Given the description of an element on the screen output the (x, y) to click on. 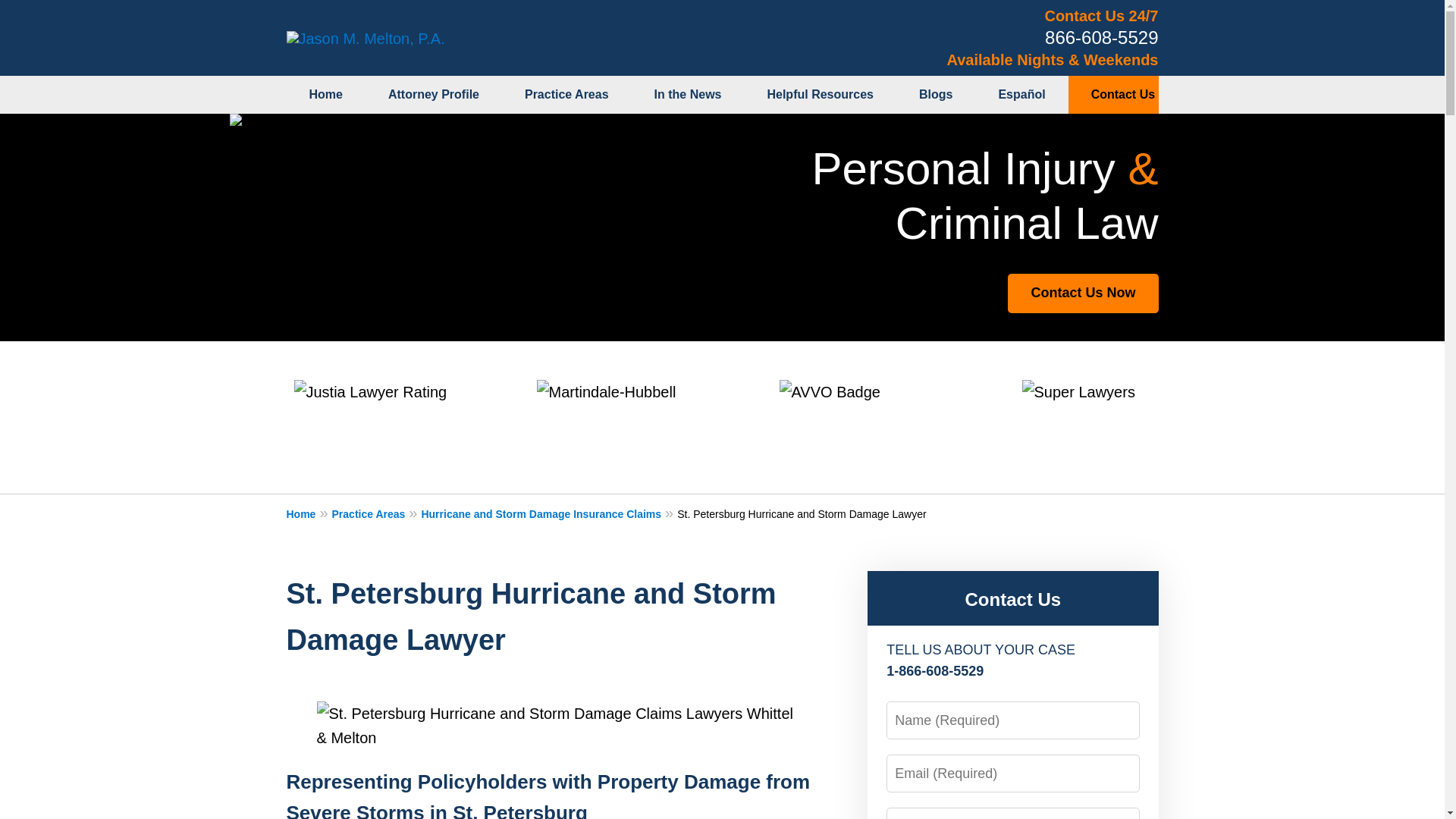
Home (308, 513)
Hurricane and Storm Damage Insurance Claims (548, 513)
Blogs (935, 94)
Practice Areas (566, 94)
Home (325, 94)
Practice Areas (376, 513)
Helpful Resources (819, 94)
Contact Us (1012, 598)
Contact Us Now (1082, 292)
In the News (687, 94)
